Given the description of an element on the screen output the (x, y) to click on. 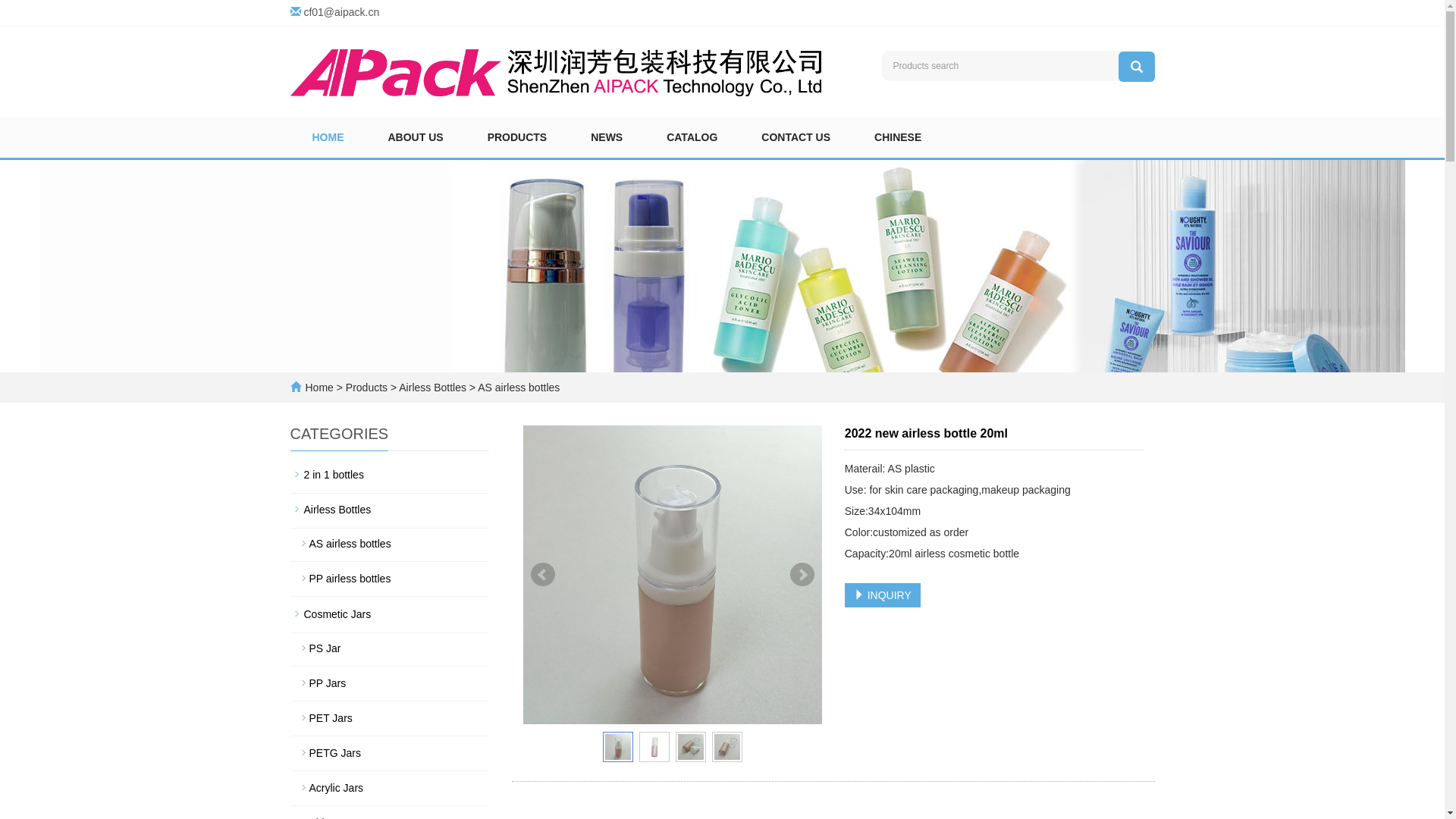
CHINESE Element type: text (897, 136)
HOME Element type: text (327, 136)
PP airless bottles Element type: text (389, 578)
PET Jars Element type: text (389, 717)
Prev Element type: text (542, 574)
PP Jars Element type: text (389, 682)
PETG Jars Element type: text (389, 752)
Home Element type: text (318, 387)
ABOUT US Element type: text (414, 136)
Products search Element type: hover (1135, 66)
2 in 1 bottles Element type: text (389, 474)
CONTACT US Element type: text (795, 136)
NEWS Element type: text (606, 136)
INQUIRY Element type: text (882, 595)
Airless Bottles Element type: text (432, 387)
PS Jar Element type: text (389, 648)
AS airless bottles Element type: text (517, 387)
cf01@aipack.cn Element type: text (341, 12)
Products Element type: text (367, 387)
Cosmetic Jars Element type: text (389, 614)
AS airless bottles Element type: text (389, 543)
Airless Bottles Element type: text (389, 509)
CATALOG Element type: text (691, 136)
PRODUCTS Element type: text (517, 136)
Acrylic Jars Element type: text (389, 787)
Next Element type: text (802, 574)
